Given the description of an element on the screen output the (x, y) to click on. 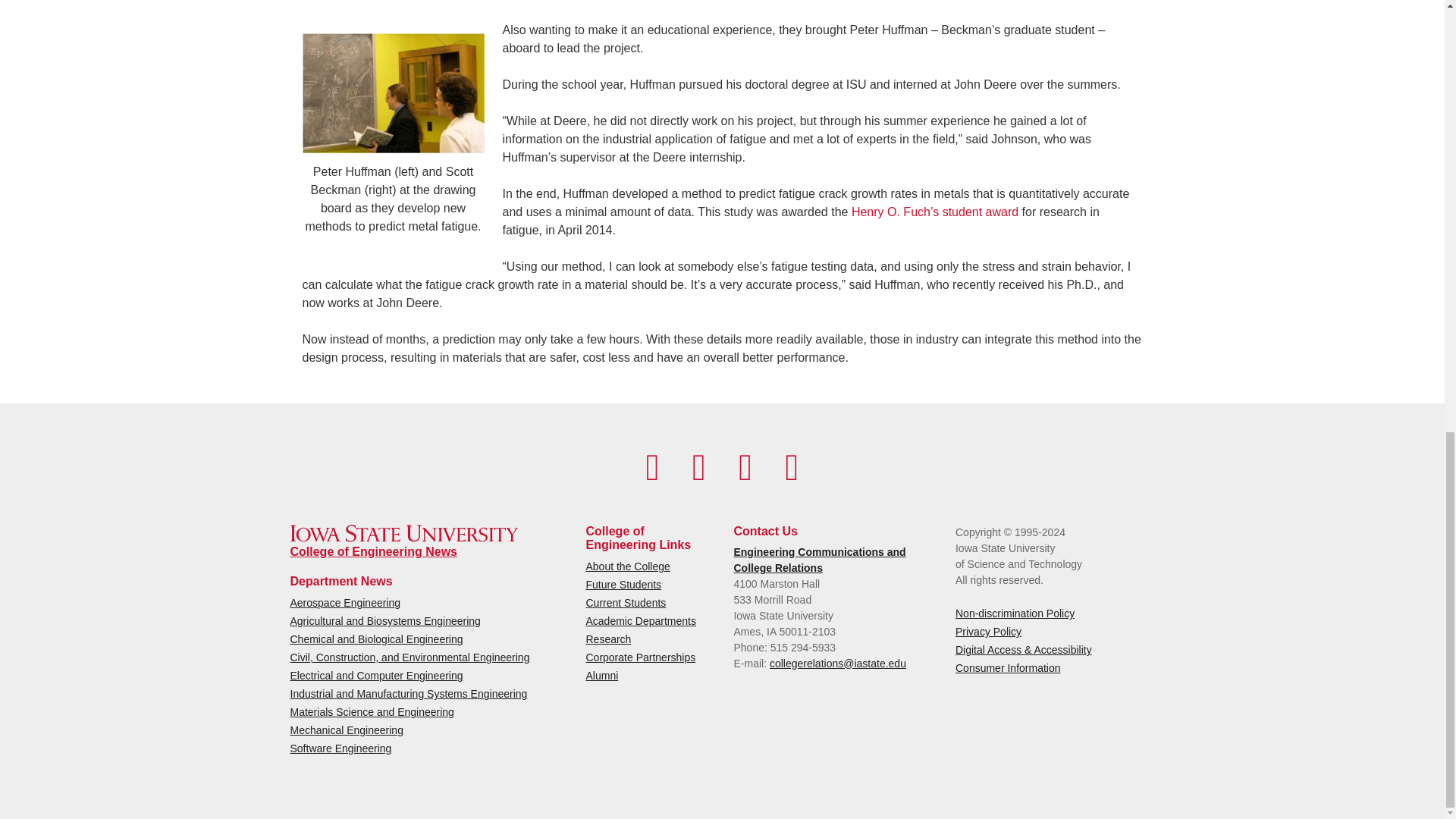
Iowa State University (402, 533)
Facebook (651, 467)
MyState (791, 467)
Instagram (745, 467)
YouTube (698, 467)
